Given the description of an element on the screen output the (x, y) to click on. 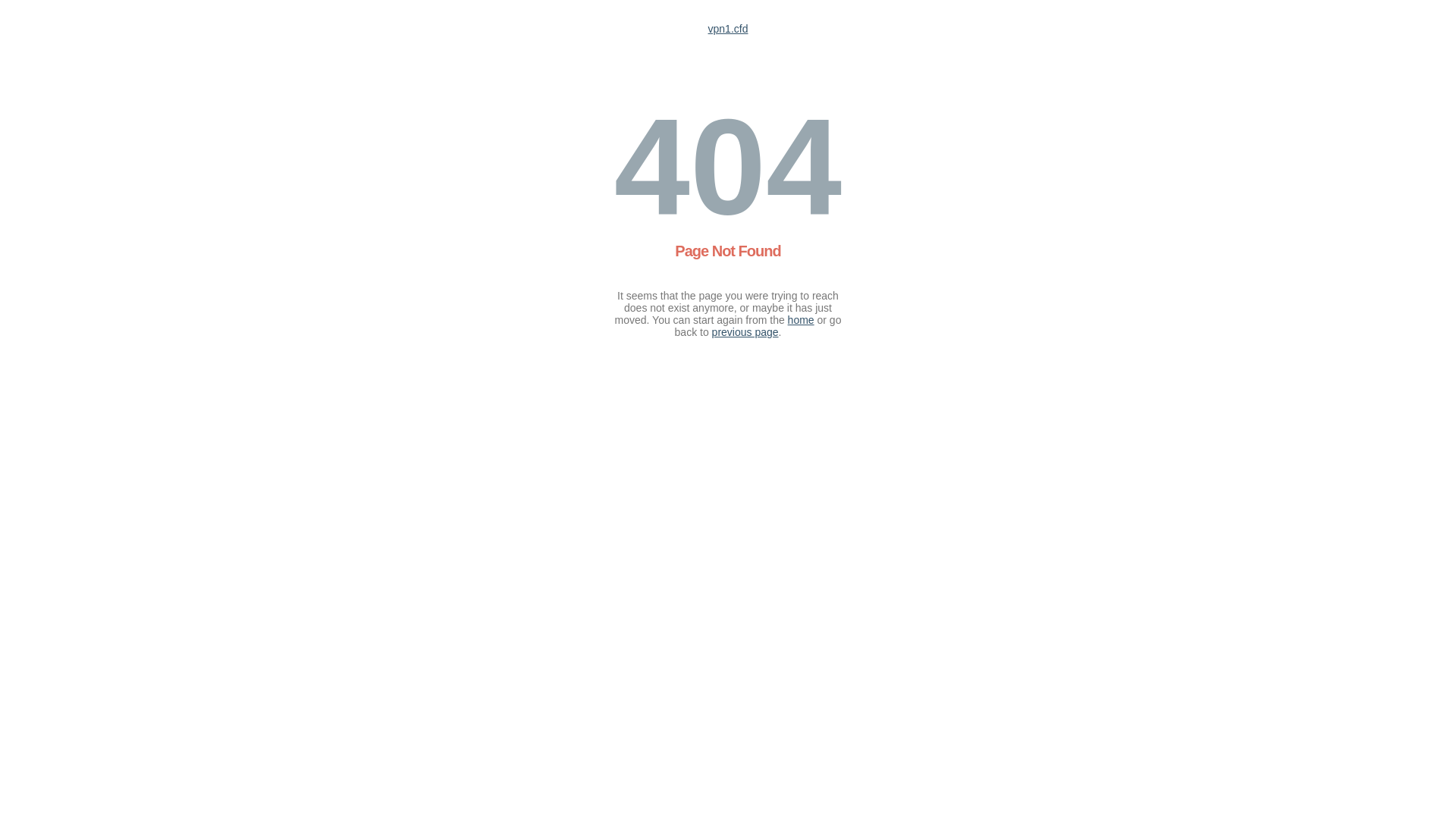
vpn1.cfd Element type: text (728, 28)
previous page Element type: text (745, 332)
home Element type: text (800, 319)
